Given the description of an element on the screen output the (x, y) to click on. 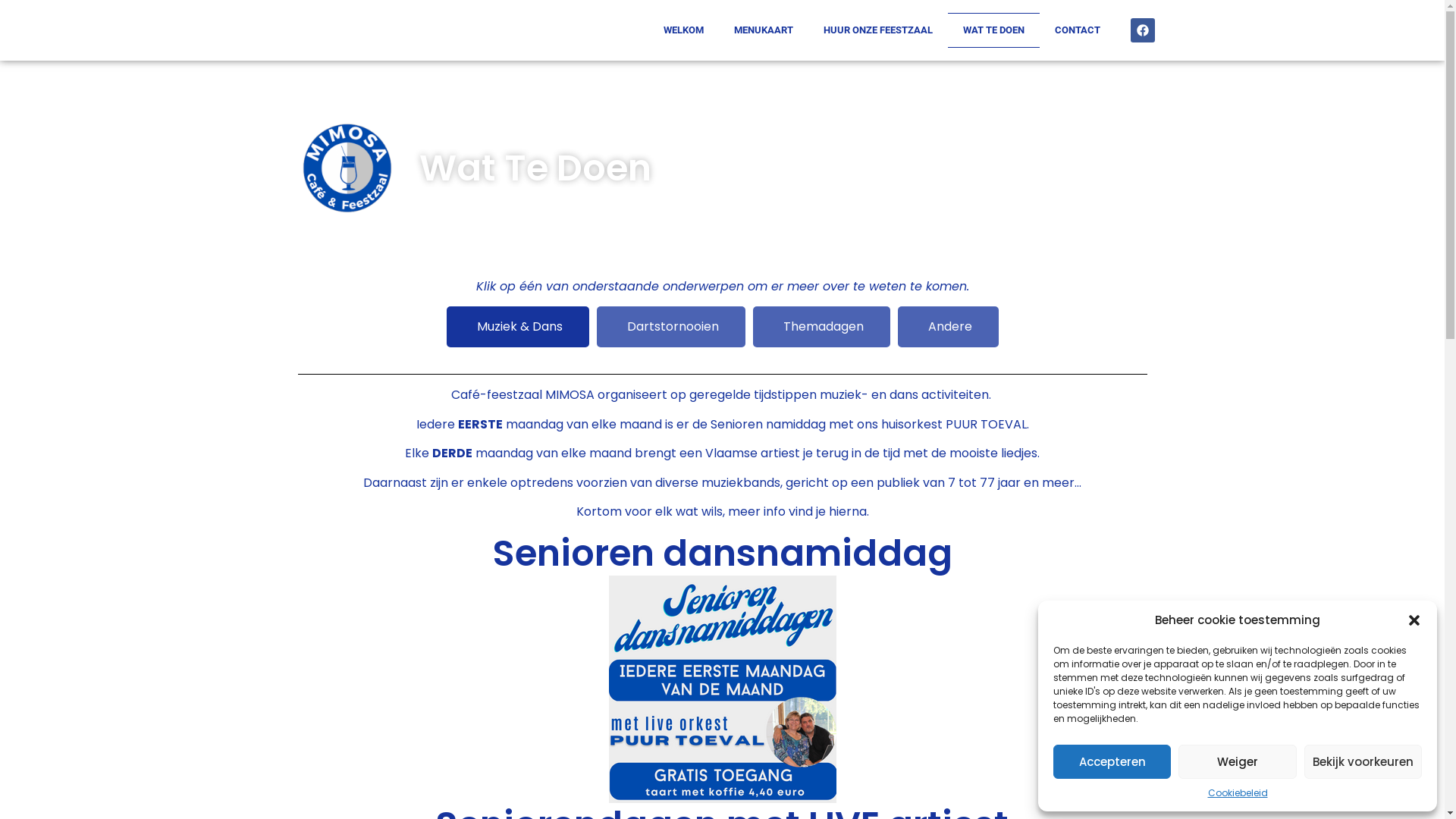
Themadagen Element type: text (820, 326)
HUUR ONZE FEESTZAAL Element type: text (877, 29)
WAT TE DOEN Element type: text (993, 29)
WELKOM Element type: text (682, 29)
Bekijk voorkeuren Element type: text (1362, 761)
Cookiebeleid Element type: text (1237, 793)
Muziek & Dans Element type: text (516, 326)
Weiger Element type: text (1236, 761)
Dartstornooien Element type: text (670, 326)
MENUKAART Element type: text (763, 29)
Accepteren Element type: text (1111, 761)
Andere Element type: text (947, 326)
CONTACT Element type: text (1076, 29)
